Given the description of an element on the screen output the (x, y) to click on. 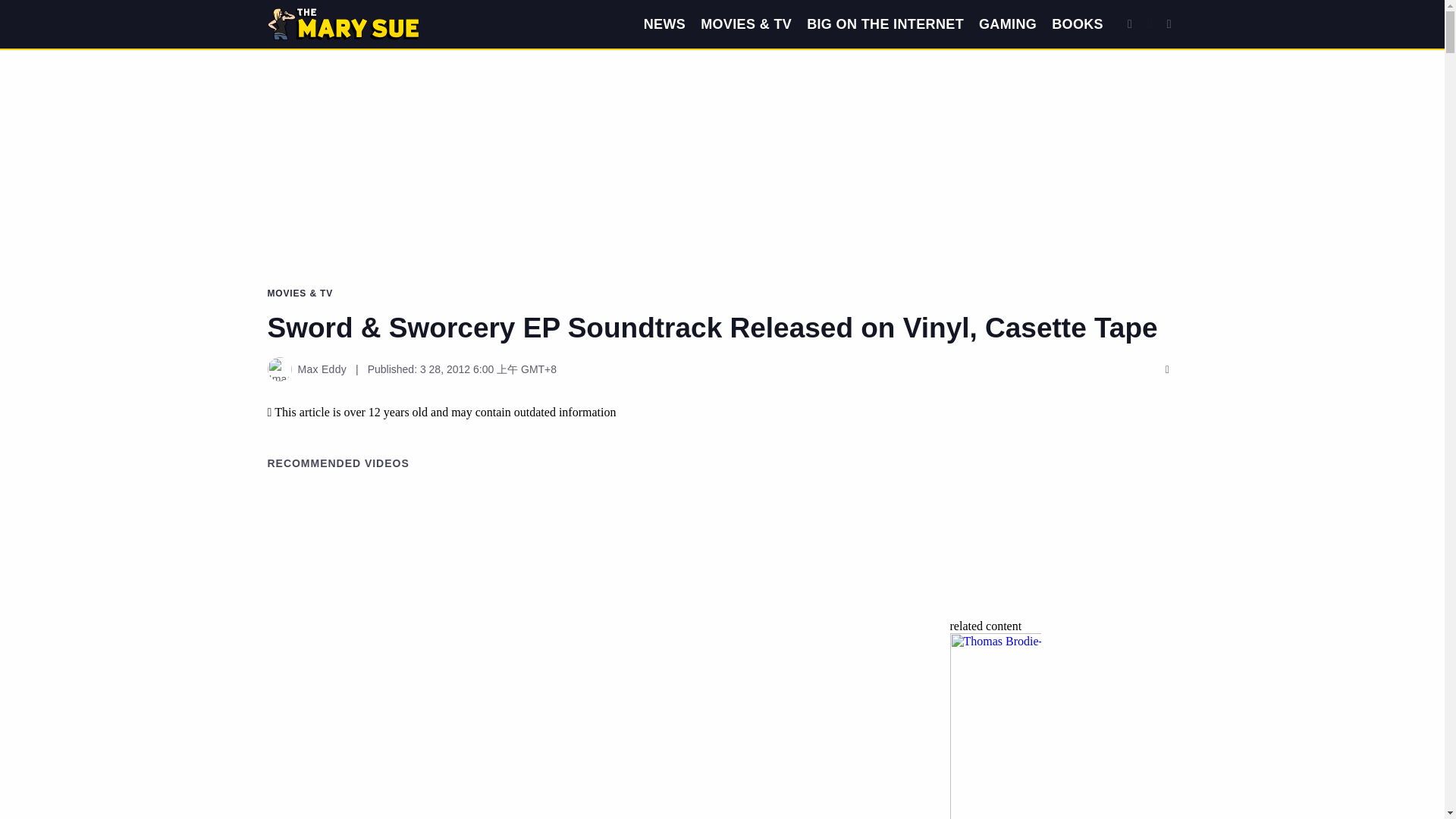
BOOKS (1077, 23)
GAMING (1007, 23)
BIG ON THE INTERNET (884, 23)
NEWS (664, 23)
